Given the description of an element on the screen output the (x, y) to click on. 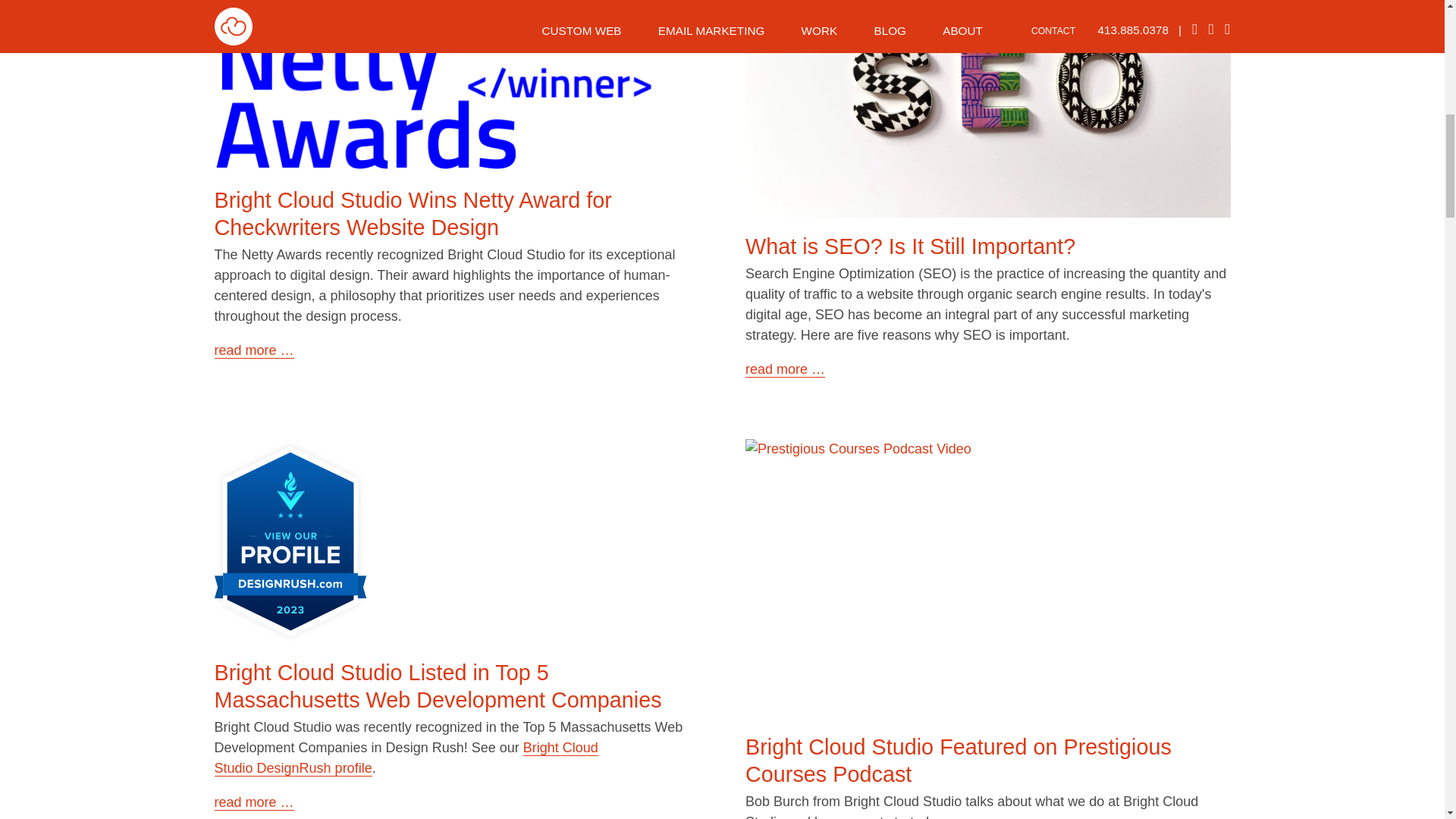
Bright Cloud Studio DesignRush profile (405, 758)
What is SEO? Is It Still Important? (910, 246)
Bright Cloud Studio Featured on Prestigious Courses Podcast (958, 760)
Netty Award Badge (456, 85)
